Given the description of an element on the screen output the (x, y) to click on. 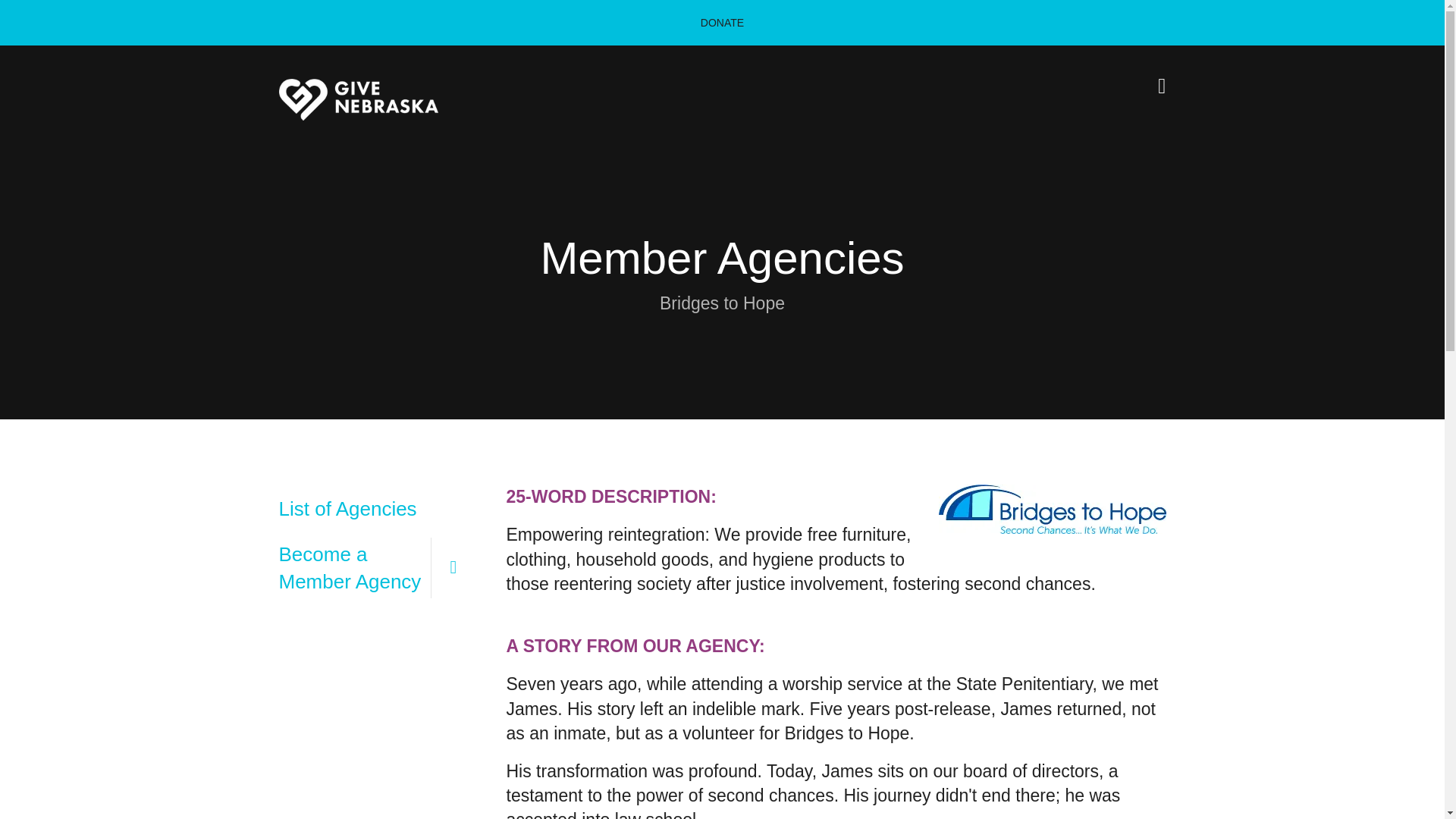
logo (358, 99)
